Given the description of an element on the screen output the (x, y) to click on. 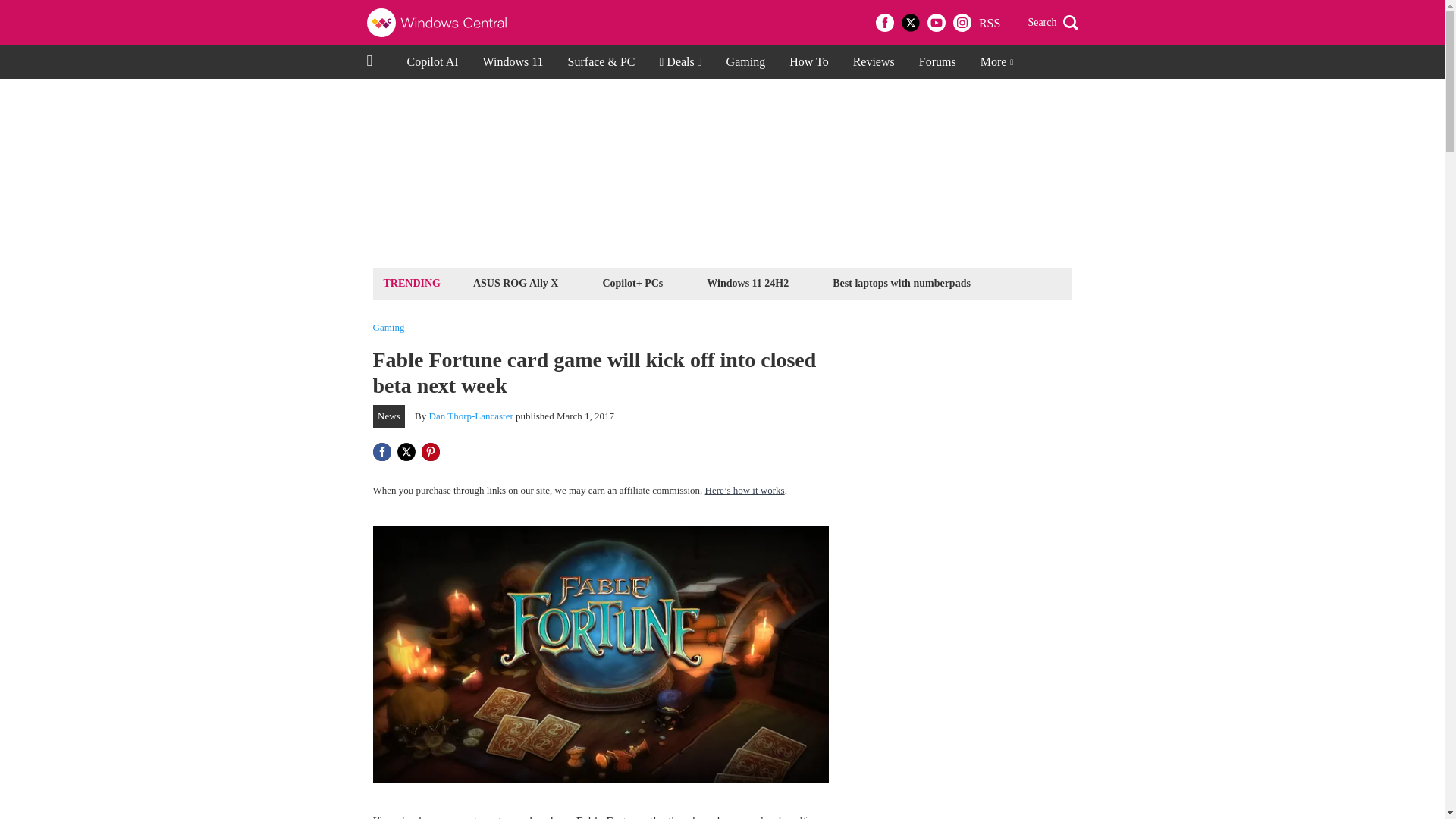
ASUS ROG Ally X (515, 282)
Forums (937, 61)
Best laptops with numberpads (901, 282)
Windows 11 24H2 (747, 282)
News (389, 415)
Windows 11 (513, 61)
Dan Thorp-Lancaster (471, 415)
RSS (989, 22)
How To (808, 61)
Gaming (745, 61)
Reviews (874, 61)
Copilot AI (432, 61)
Gaming (388, 327)
